Given the description of an element on the screen output the (x, y) to click on. 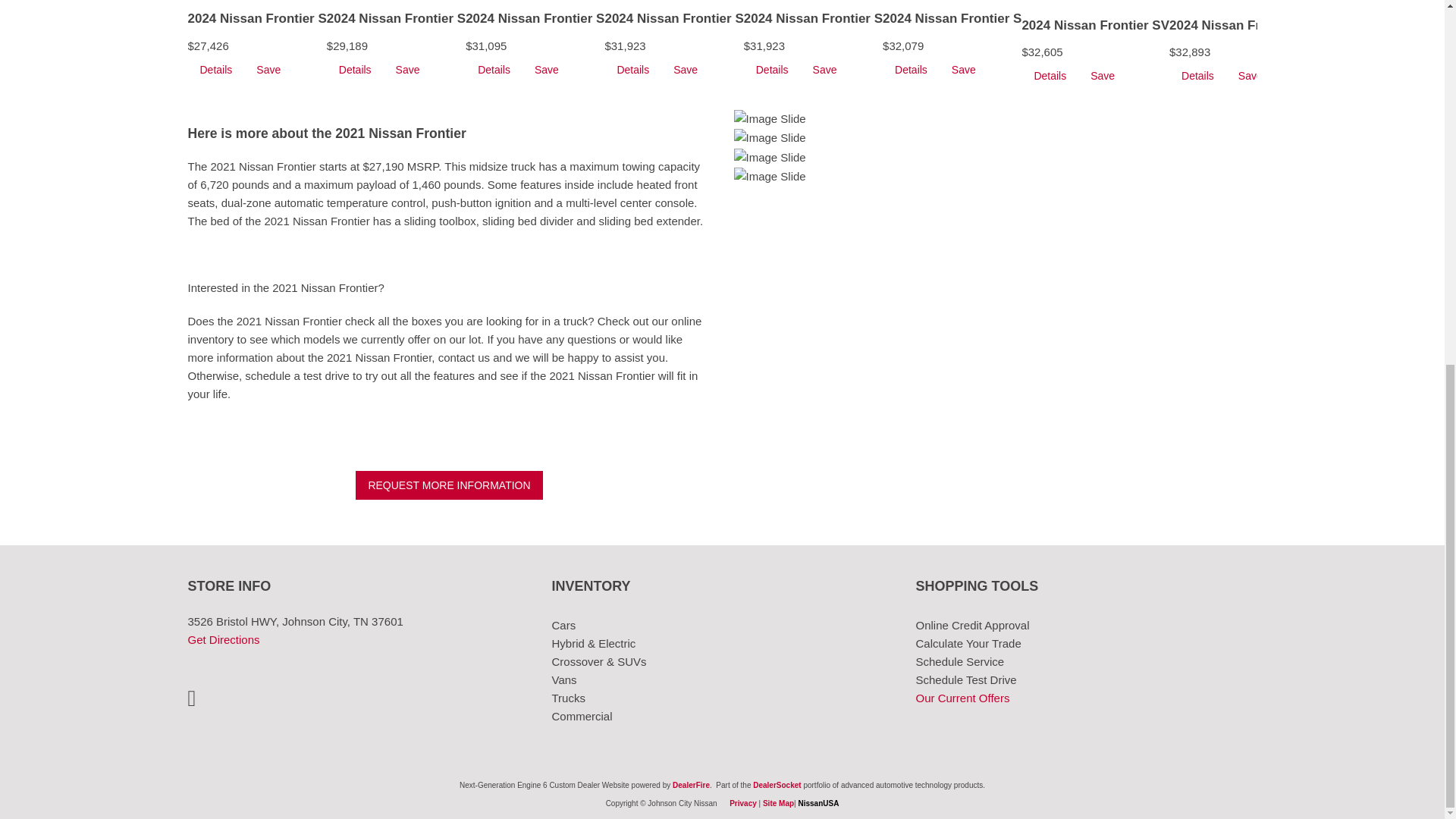
Image Slide (769, 157)
Image Slide (769, 176)
Image Slide (769, 137)
Image Slide (769, 118)
